Given the description of an element on the screen output the (x, y) to click on. 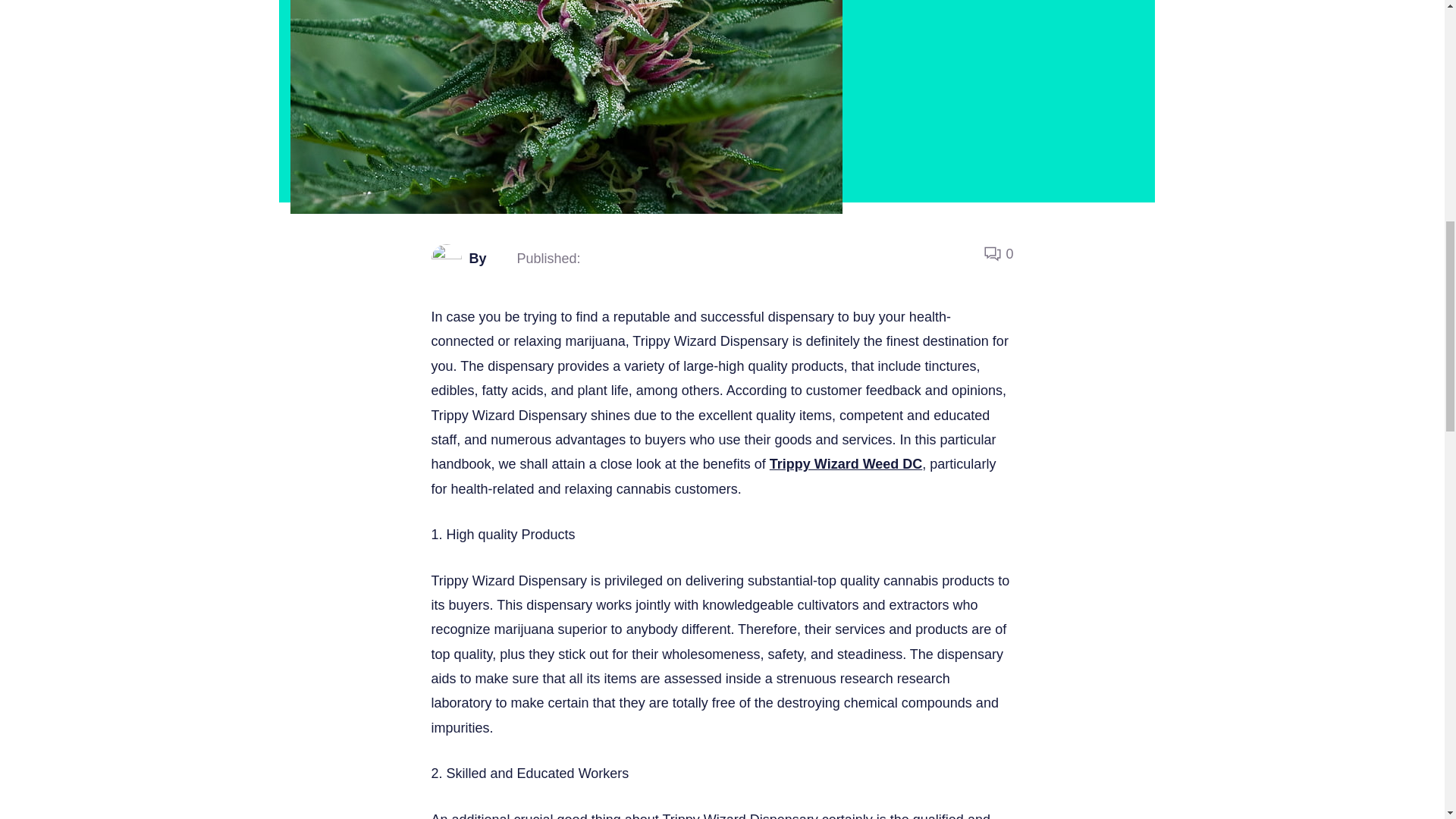
Trippy Wizard Weed DC (846, 463)
